Given the description of an element on the screen output the (x, y) to click on. 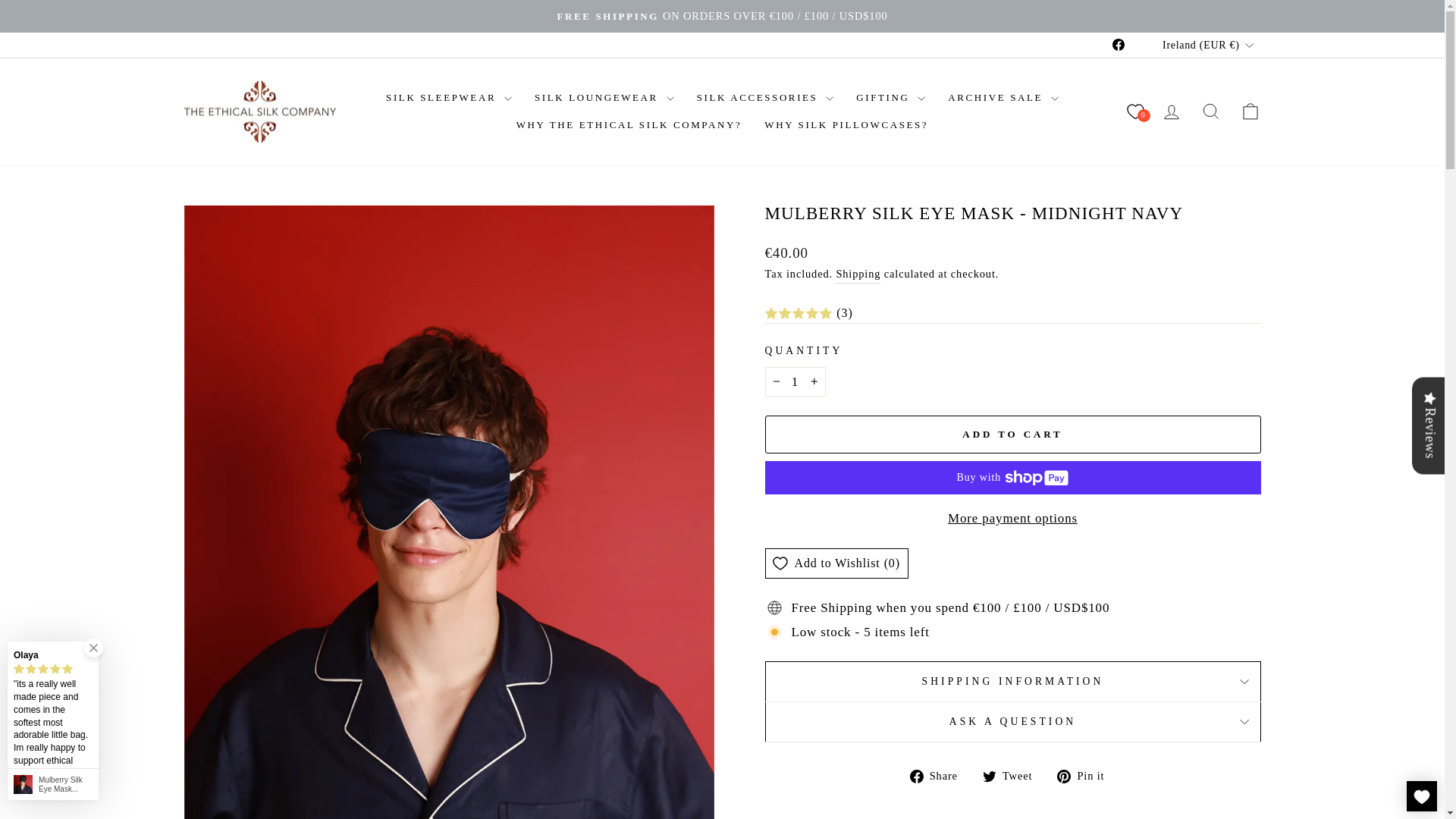
ICON-SEARCH (1210, 111)
ICON-BAG-MINIMAL (1249, 111)
Mulberry Silk Eye Mask - Midnight Navy (66, 783)
ACCOUNT (1170, 111)
1 (794, 381)
The Ethical Silk Company on Facebook (1118, 44)
Tweet on Twitter (1012, 774)
Share on Facebook (939, 774)
Facebook (1118, 44)
Pin on Pinterest (1086, 774)
